Given the description of an element on the screen output the (x, y) to click on. 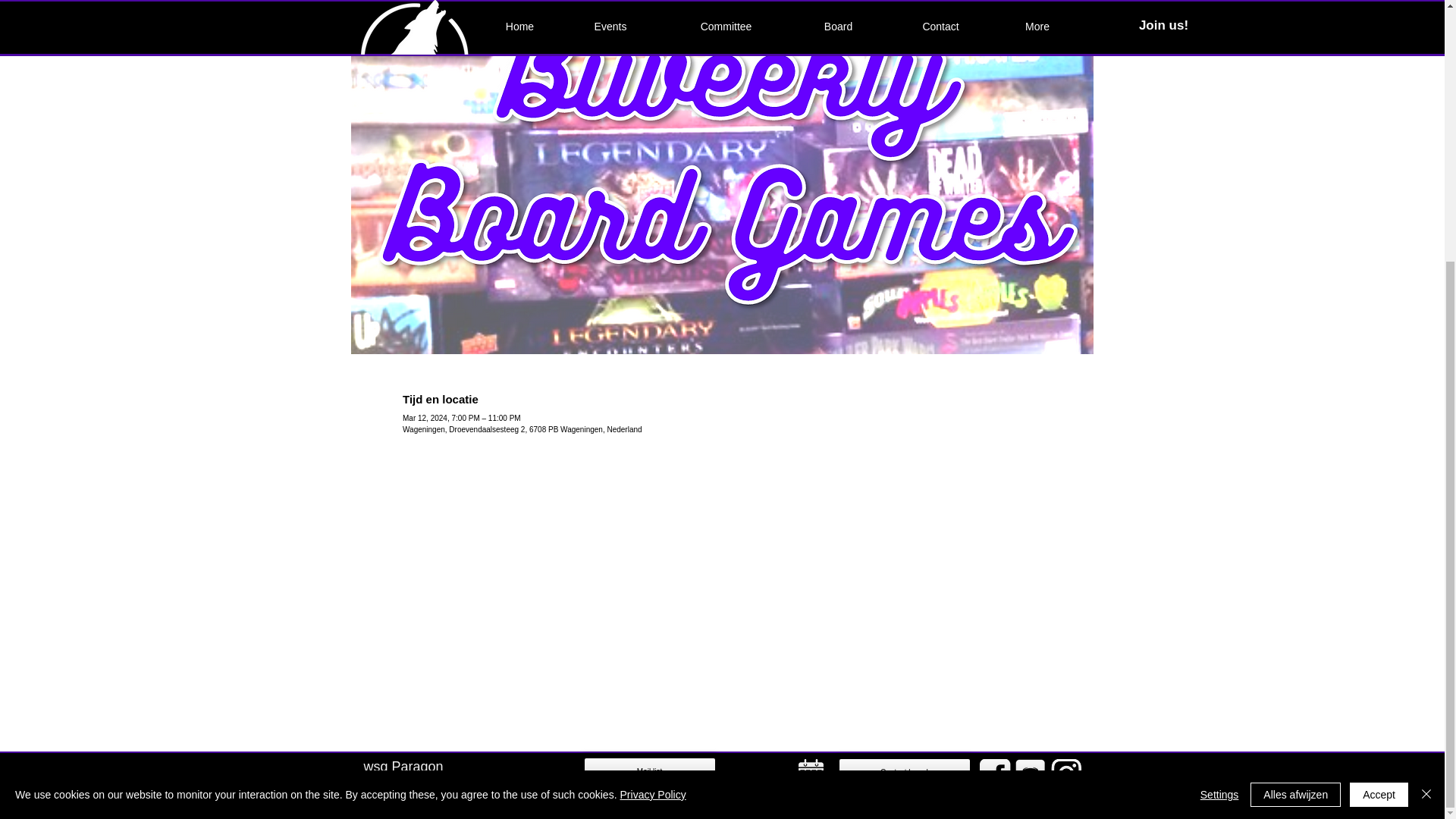
Privacy Policy (652, 418)
Contact board (904, 772)
Mail list (649, 771)
Privacy policy (428, 795)
Accept (1378, 418)
Alles afwijzen (1295, 418)
